Given the description of an element on the screen output the (x, y) to click on. 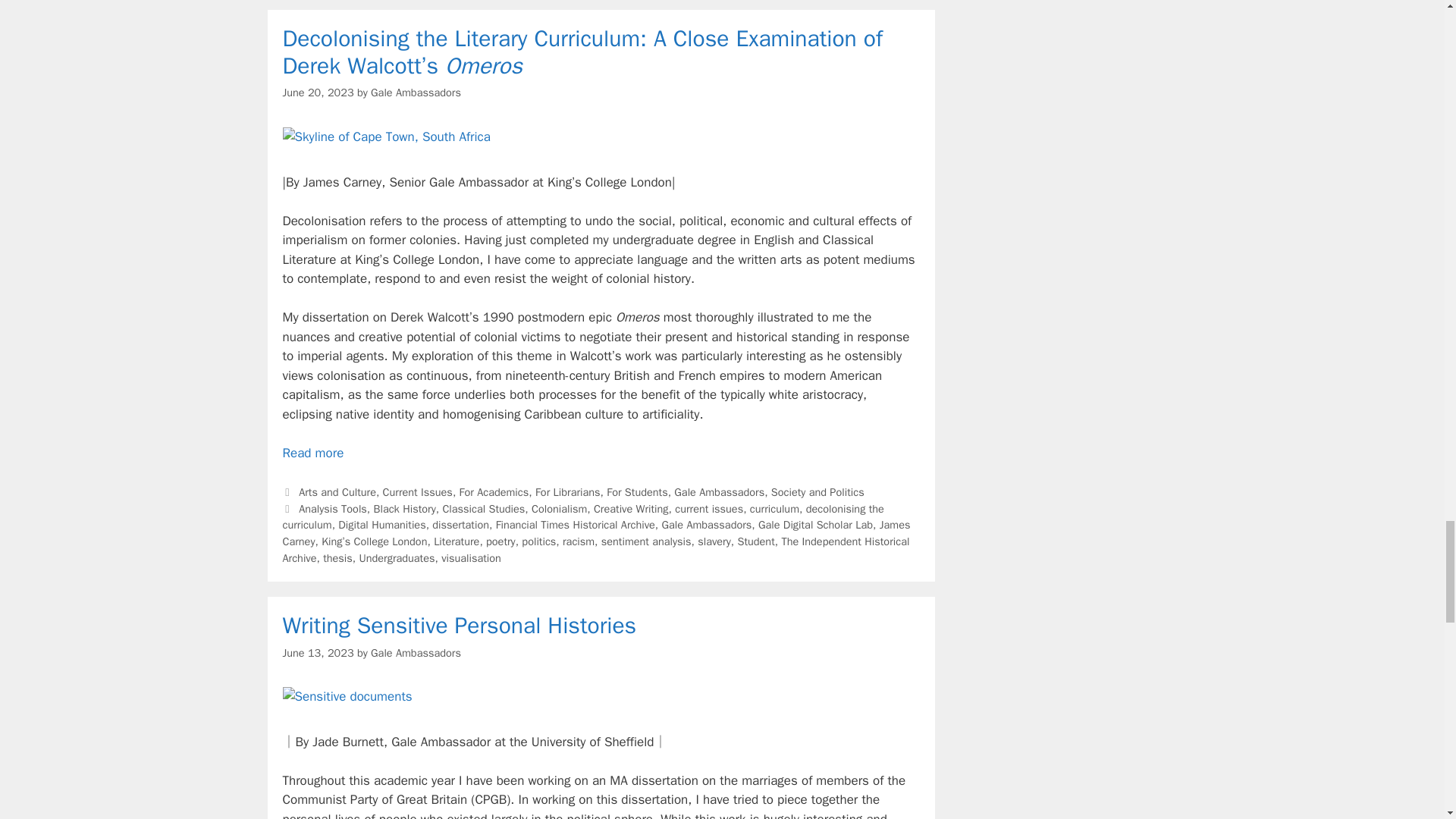
View all posts by Gale Ambassadors (416, 92)
